Given the description of an element on the screen output the (x, y) to click on. 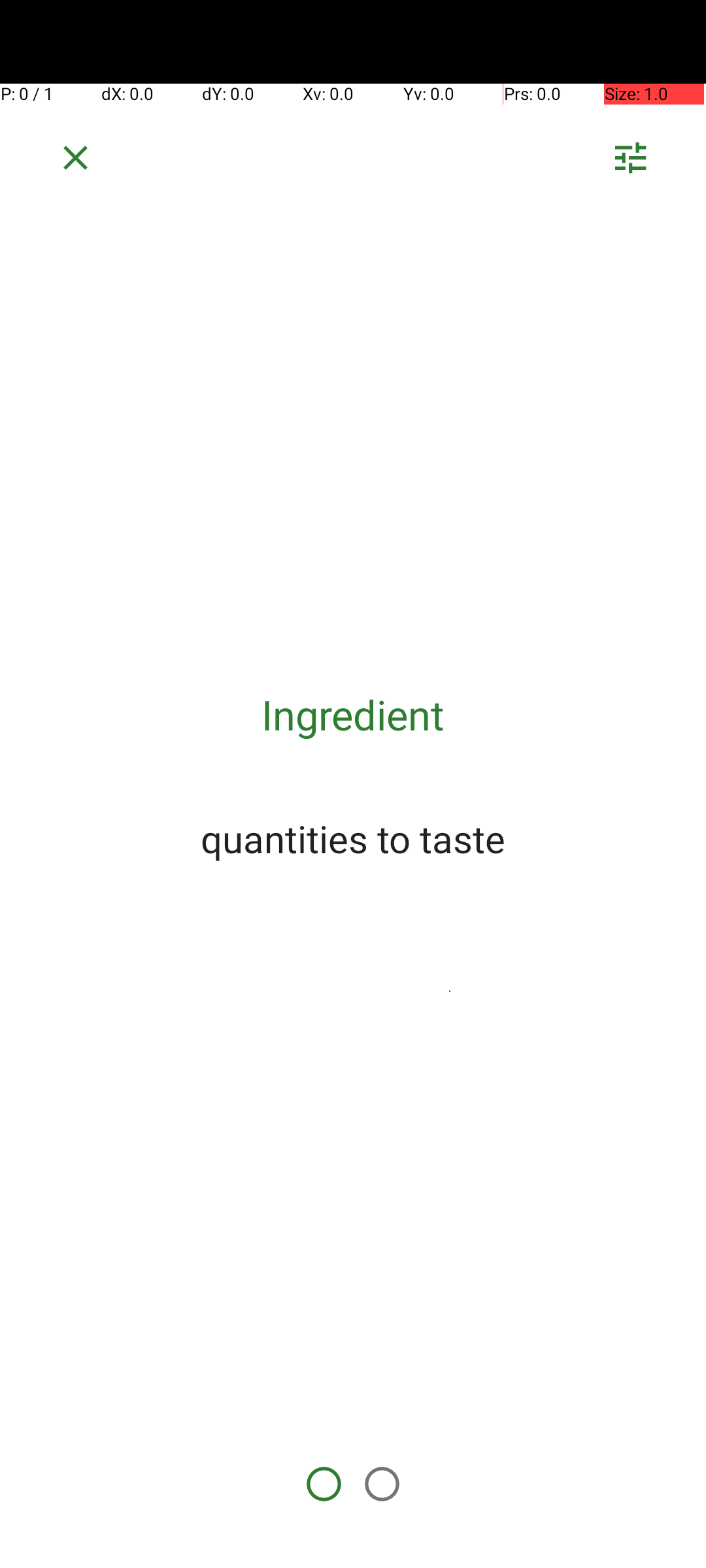
quantities to taste Element type: android.widget.TextView (352, 838)
